Given the description of an element on the screen output the (x, y) to click on. 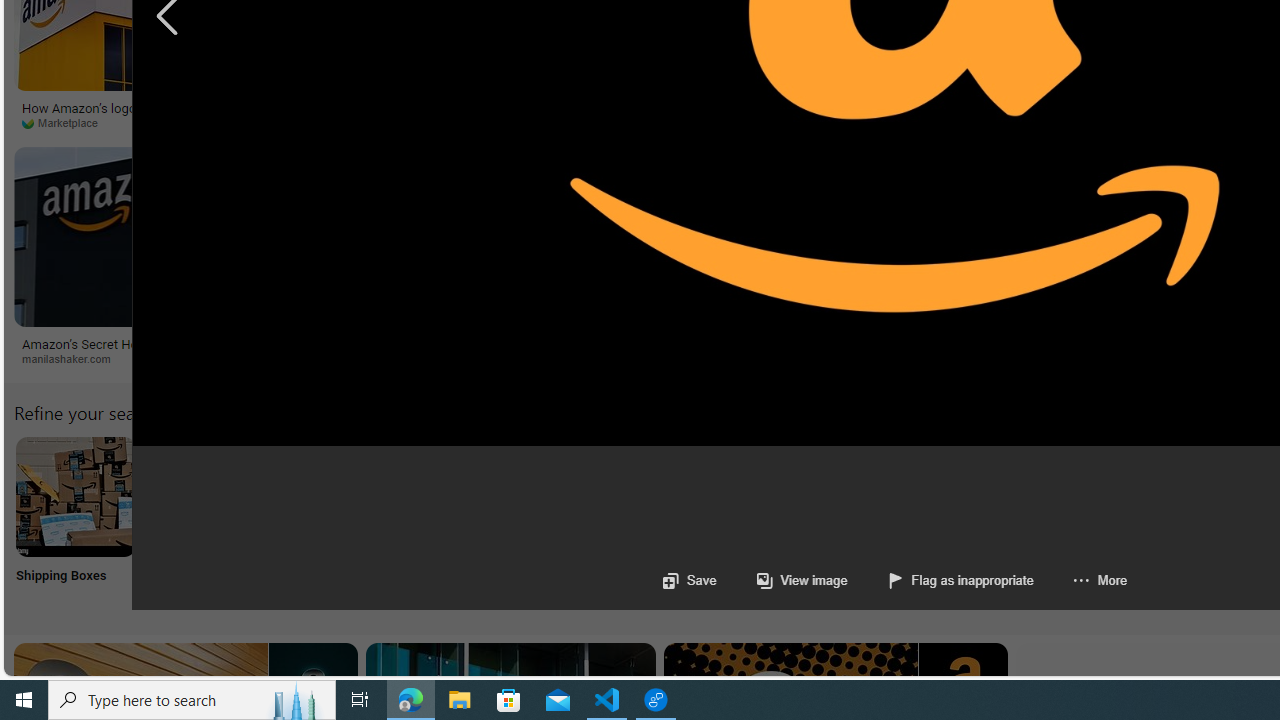
Amazon Retail Store (867, 496)
Flag as inappropriate (960, 580)
Amazon Clip Art (339, 496)
Online Store (1131, 521)
Wish List (999, 521)
Amazon Jobs Near Me Jobs Near Me (604, 521)
Flag as inappropriate (940, 580)
Amazon Jobs Near Me (604, 496)
Dallas Morning News (683, 121)
Amazon Log into My Account (472, 496)
vecteezy.com (961, 121)
Amazon Shipping Boxes Shipping Boxes (75, 521)
